Given the description of an element on the screen output the (x, y) to click on. 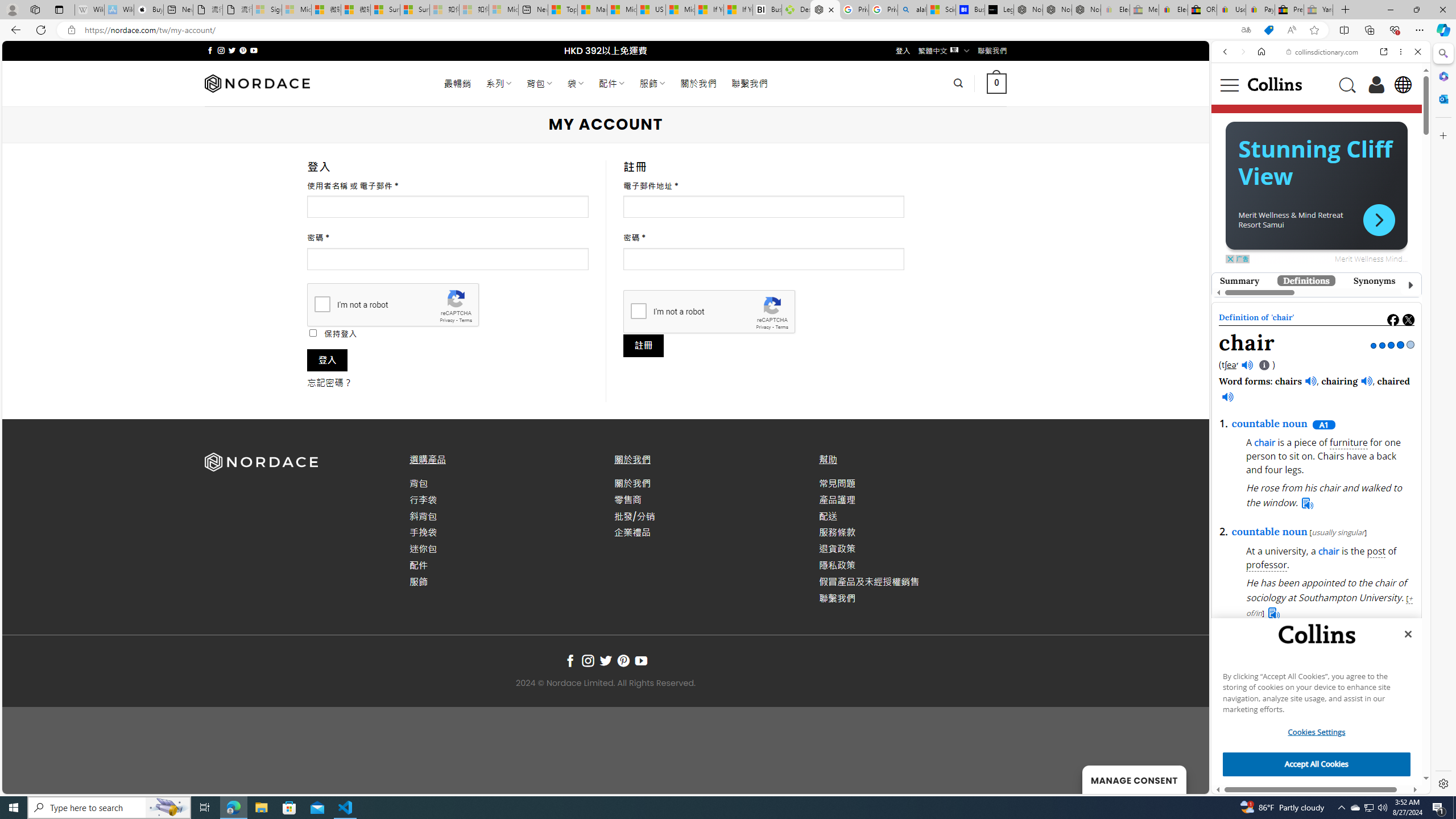
A1 (1323, 424)
Microsoft Services Agreement - Sleeping (295, 9)
Show translate options (1245, 29)
chairperson (1288, 350)
This site has coupons! Shopping in Microsoft Edge (1268, 29)
